Given the description of an element on the screen output the (x, y) to click on. 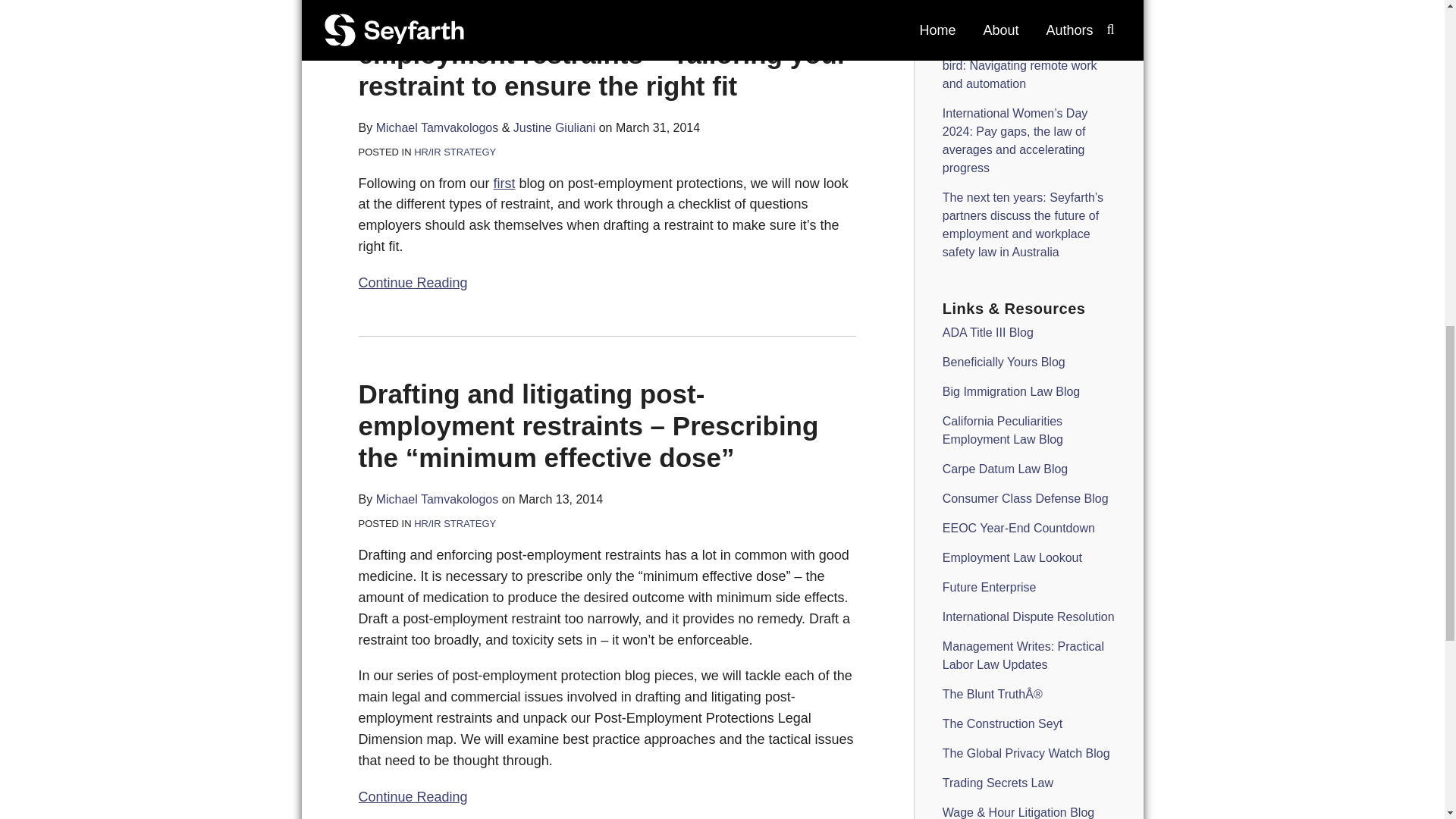
Big Immigration Law Blog (1011, 391)
Justine Giuliani (554, 127)
Carpe Datum Law Blog (1004, 468)
Michael Tamvakologos (437, 499)
Beneficially Yours Blog (1003, 361)
Consumer Class Defense Blog (1025, 498)
ADA Title III Blog (987, 332)
Michael Tamvakologos (437, 127)
first (504, 183)
